Given the description of an element on the screen output the (x, y) to click on. 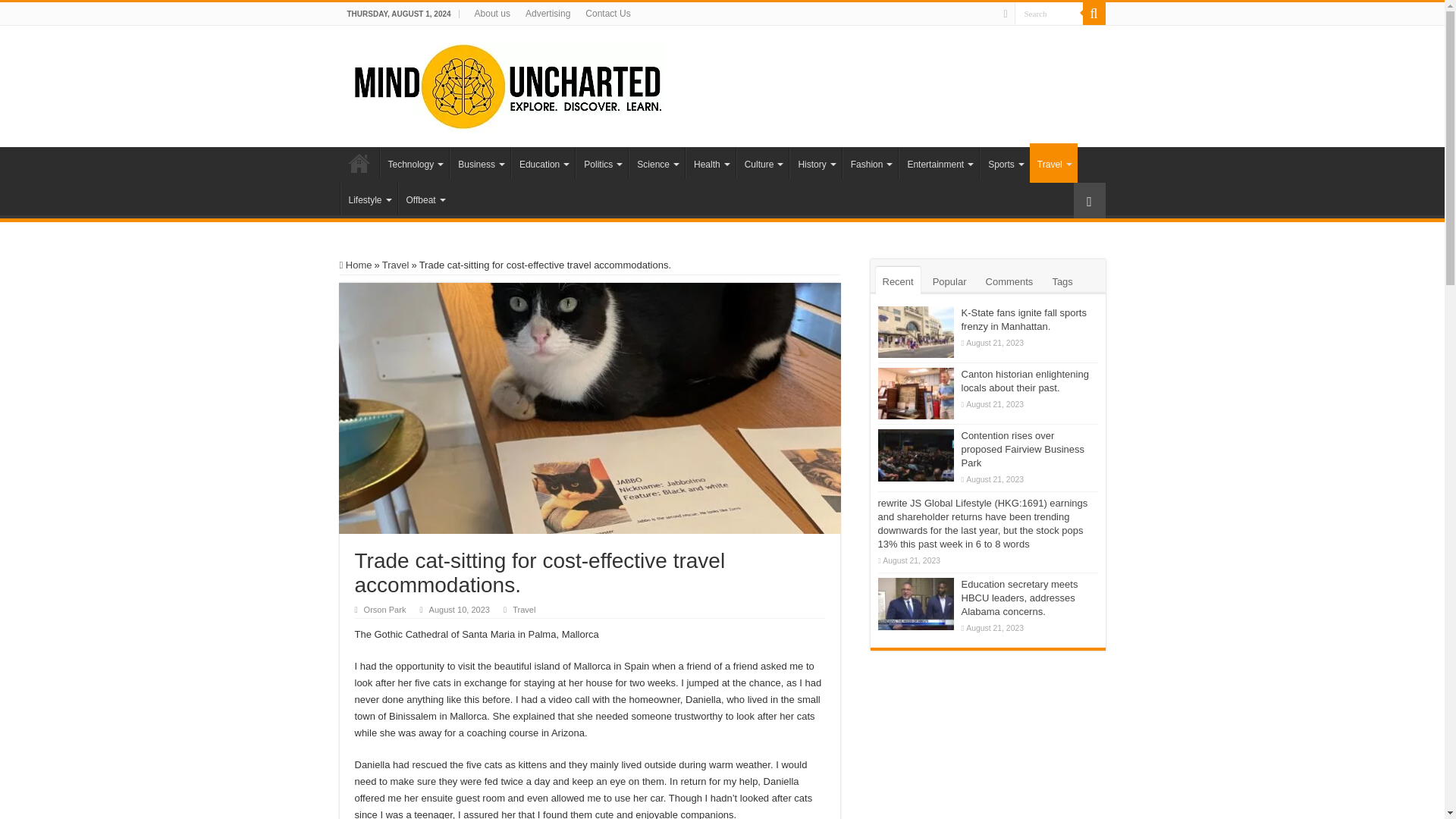
Mind Uncharted (506, 83)
Search (1048, 13)
Search (1048, 13)
Search (1048, 13)
